Given the description of an element on the screen output the (x, y) to click on. 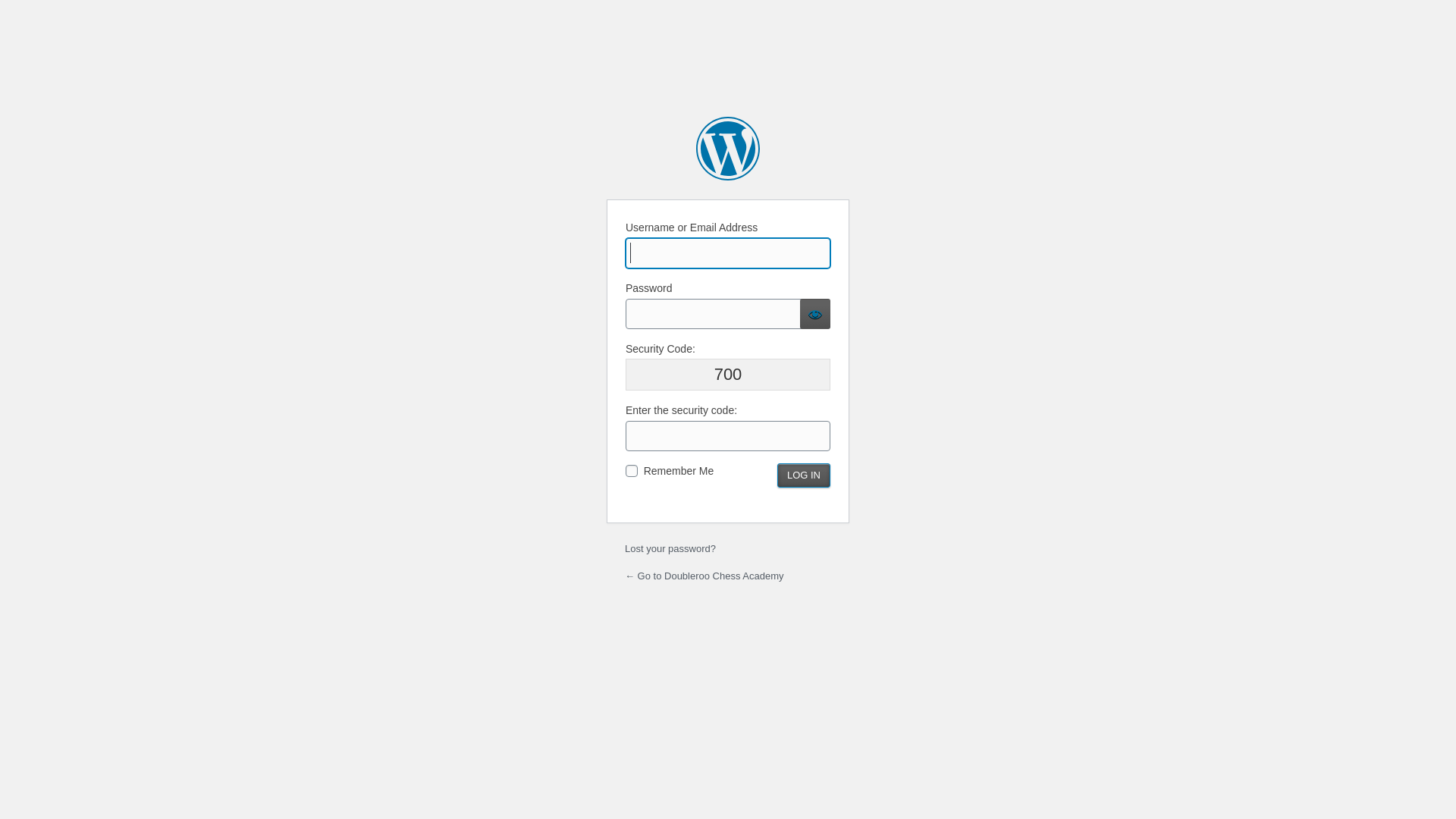
Powered by WordPress Element type: text (727, 148)
Lost your password? Element type: text (669, 548)
Log In Element type: text (803, 475)
